Given the description of an element on the screen output the (x, y) to click on. 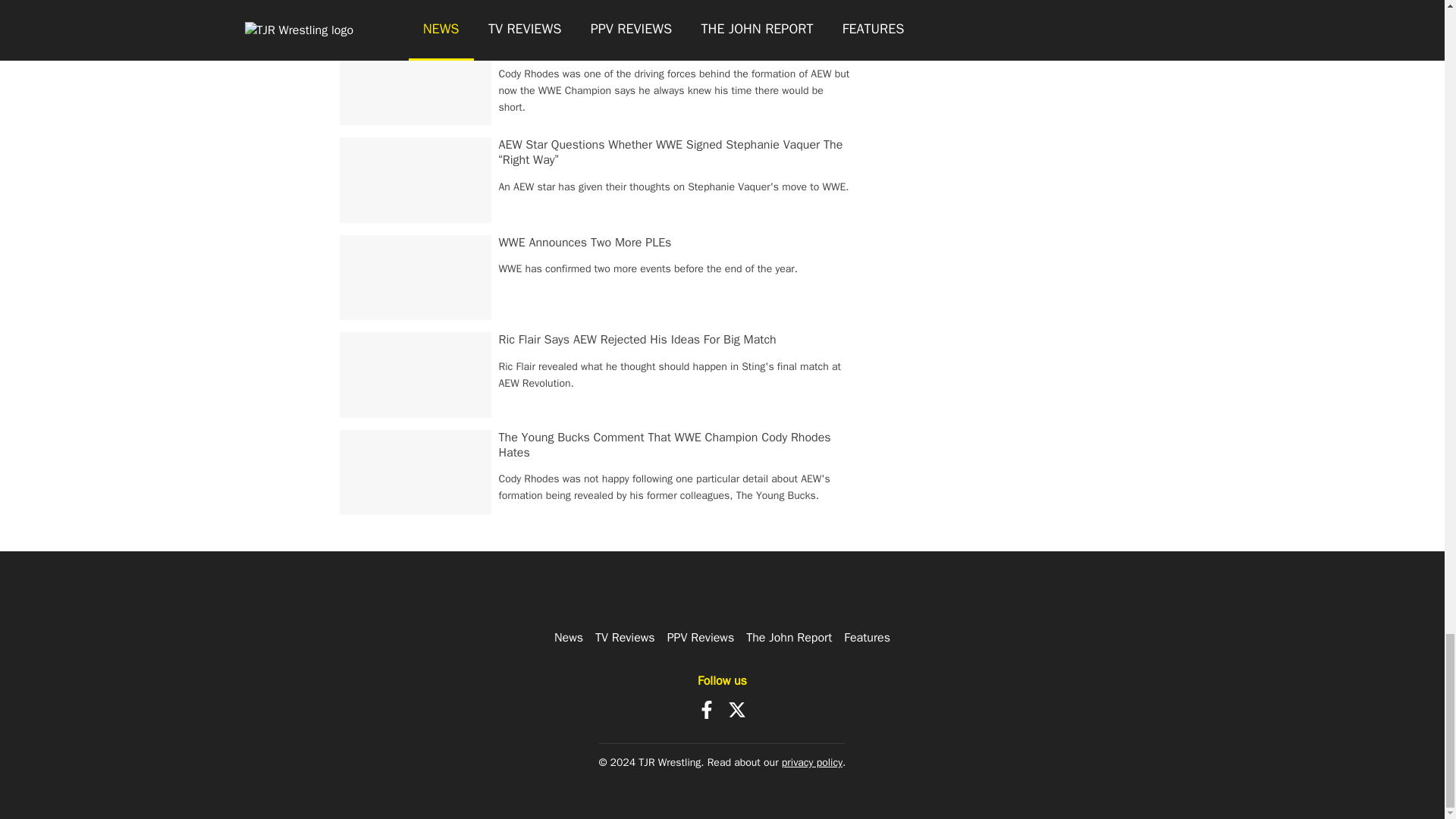
Facebook (706, 710)
WWE Announces Two More PLEs (585, 242)
X (736, 710)
